Given the description of an element on the screen output the (x, y) to click on. 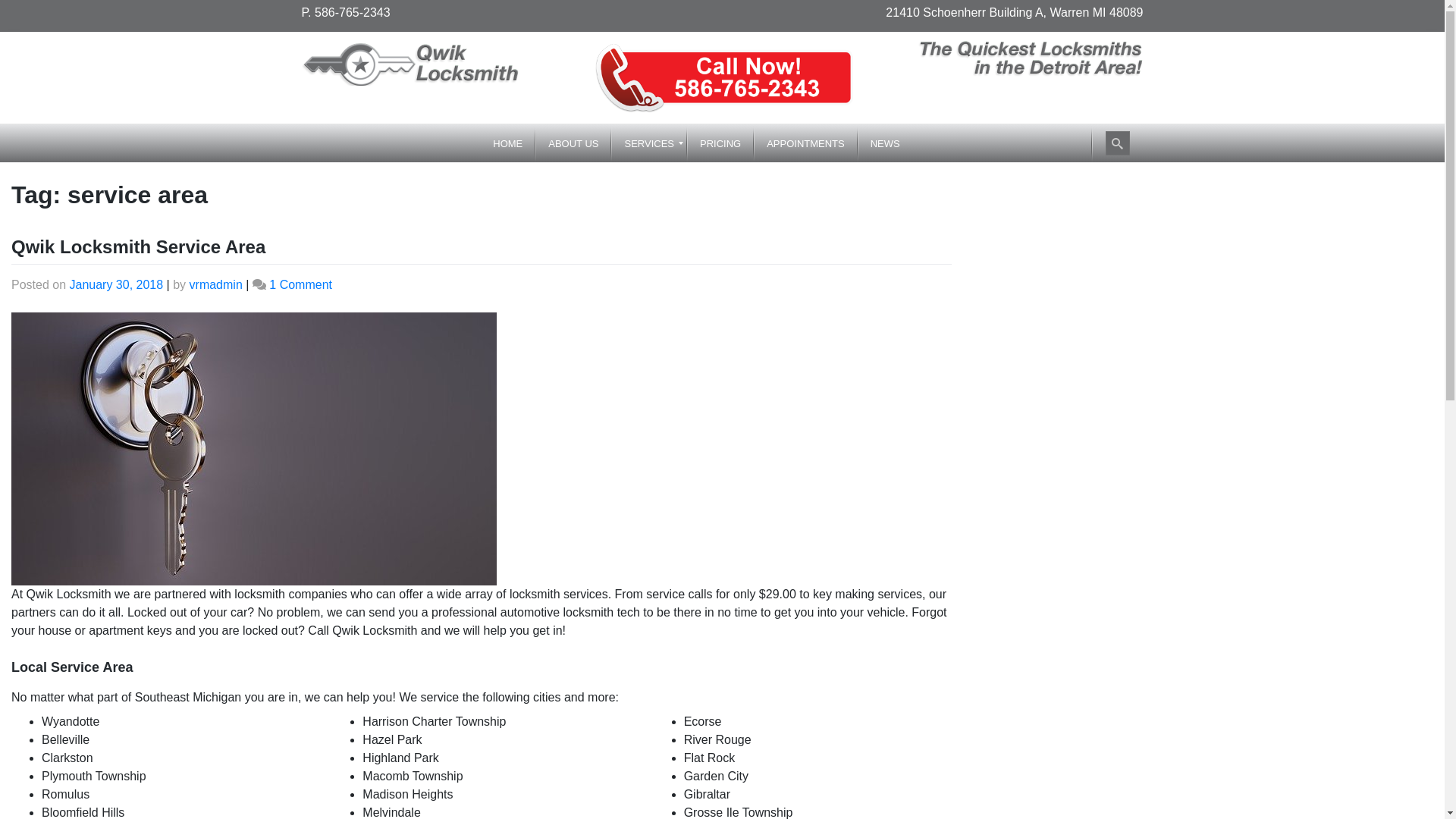
Search Element type: text (29, 14)
1 Comment
on Qwik Locksmith Service Area Element type: text (300, 284)
ABOUT US Element type: text (573, 143)
APPOINTMENTS Element type: text (805, 143)
Qwik Locksmith Service Area Element type: text (138, 246)
586-765-2343 Element type: text (352, 12)
vrmadmin Element type: text (215, 284)
Search Element type: text (1116, 143)
January 30, 2018 Element type: text (116, 284)
21410 Schoenherr Building A, Warren MI 48089 Element type: text (1013, 12)
SERVICES Element type: text (649, 143)
NEWS Element type: text (885, 143)
HOME Element type: text (507, 143)
PRICING Element type: text (720, 143)
